Given the description of an element on the screen output the (x, y) to click on. 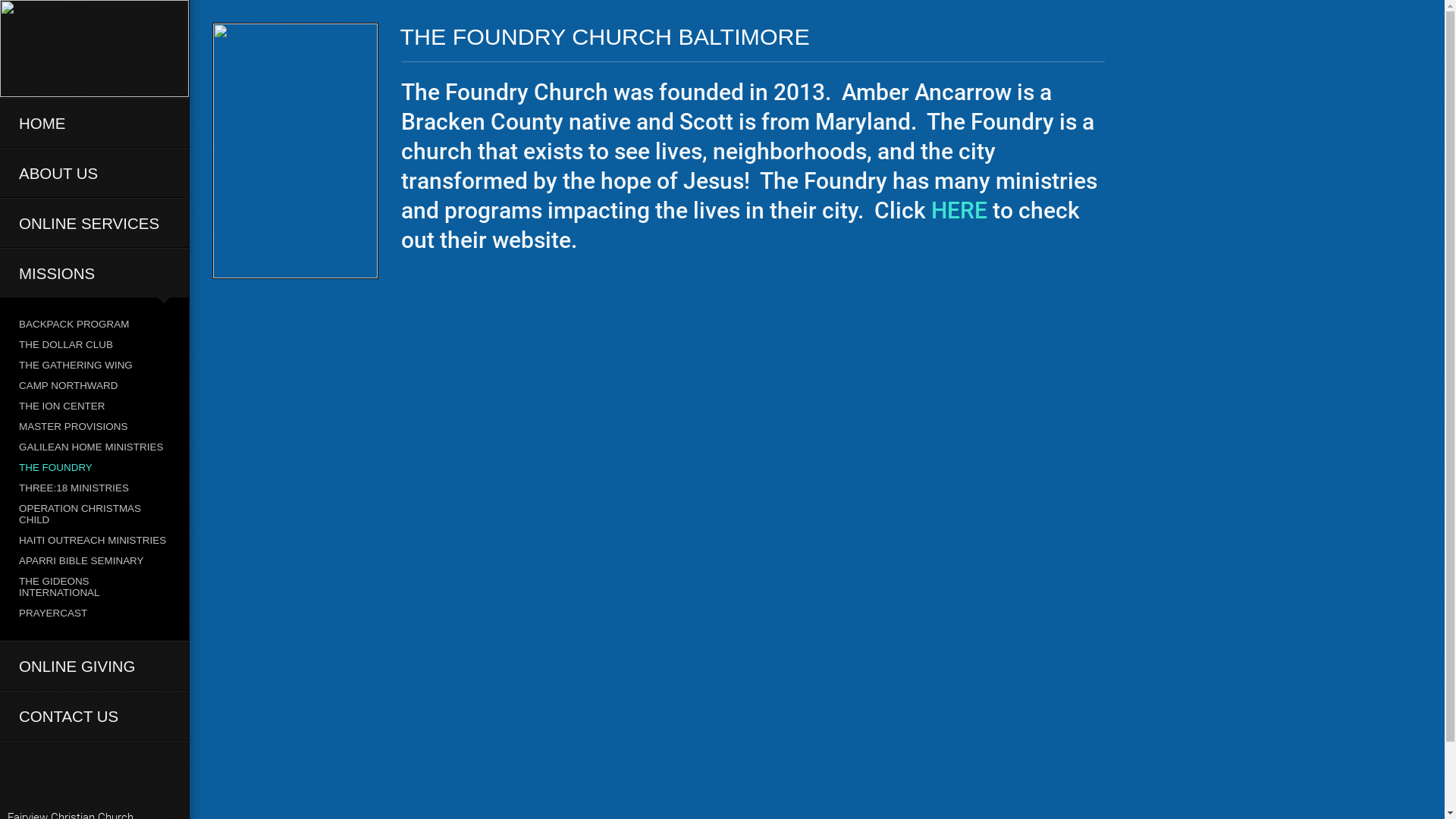
HOME Element type: text (94, 122)
CONTACT US Element type: text (94, 715)
ABOUT US Element type: text (94, 172)
PRAYERCAST Element type: text (93, 612)
MASTER PROVISIONS Element type: text (93, 426)
ONLINE GIVING Element type: text (94, 665)
THE DOLLAR CLUB Element type: text (93, 344)
THE ION CENTER Element type: text (93, 405)
THE FOUNDRY Element type: text (93, 467)
THREE:18 MINISTRIES Element type: text (93, 487)
THE GIDEONS INTERNATIONAL Element type: text (93, 586)
BACKPACK PROGRAM Element type: text (93, 323)
MISSIONS Element type: text (94, 272)
APARRI BIBLE SEMINARY Element type: text (93, 560)
THE GATHERING WING Element type: text (93, 364)
GALILEAN HOME MINISTRIES Element type: text (93, 446)
ONLINE SERVICES Element type: text (94, 222)
CAMP NORTHWARD Element type: text (93, 385)
OPERATION CHRISTMAS CHILD Element type: text (93, 514)
HERE Element type: text (961, 210)
HAITI OUTREACH MINISTRIES Element type: text (93, 540)
